Given the description of an element on the screen output the (x, y) to click on. 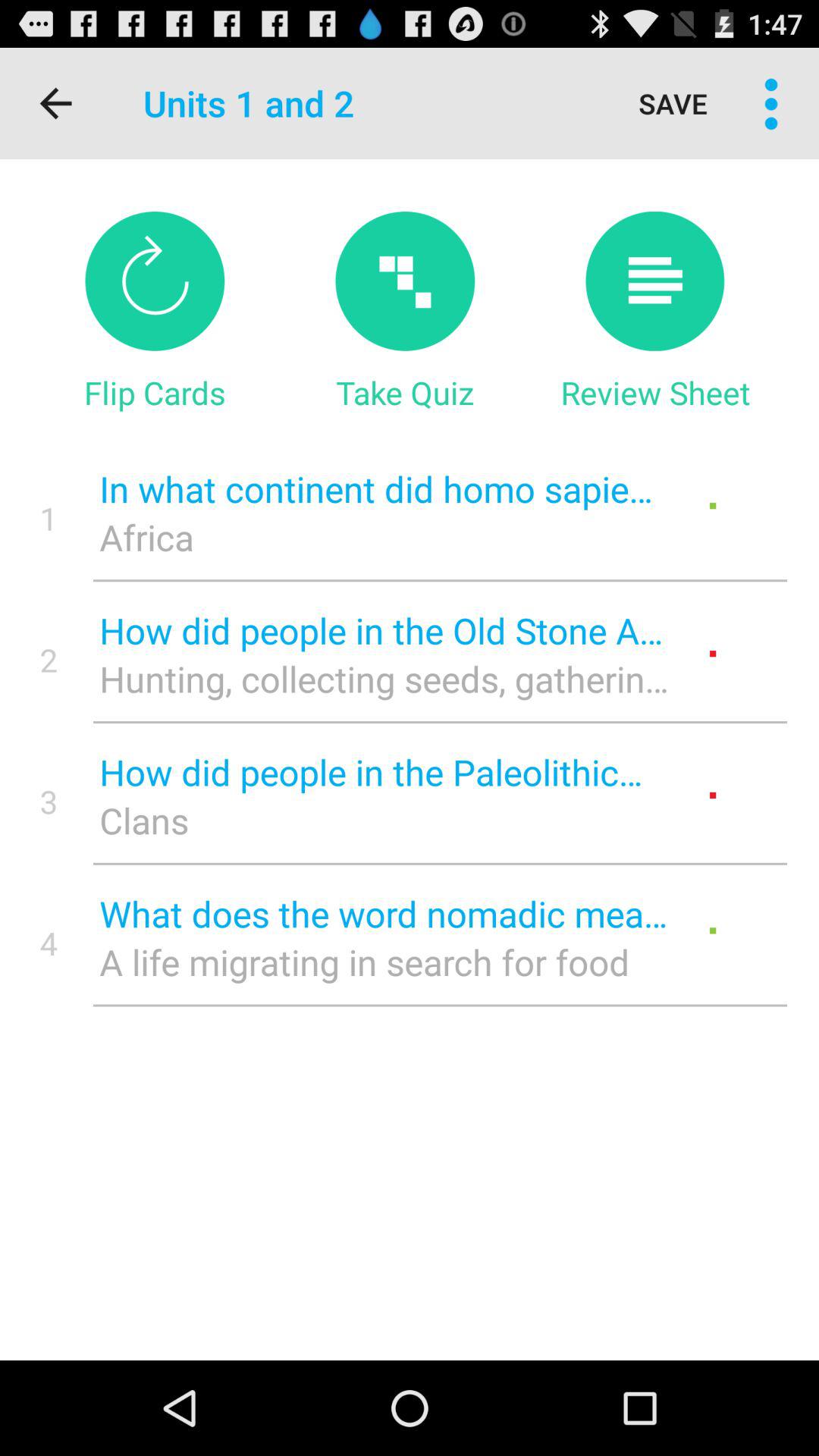
click item next to the save (771, 103)
